Given the description of an element on the screen output the (x, y) to click on. 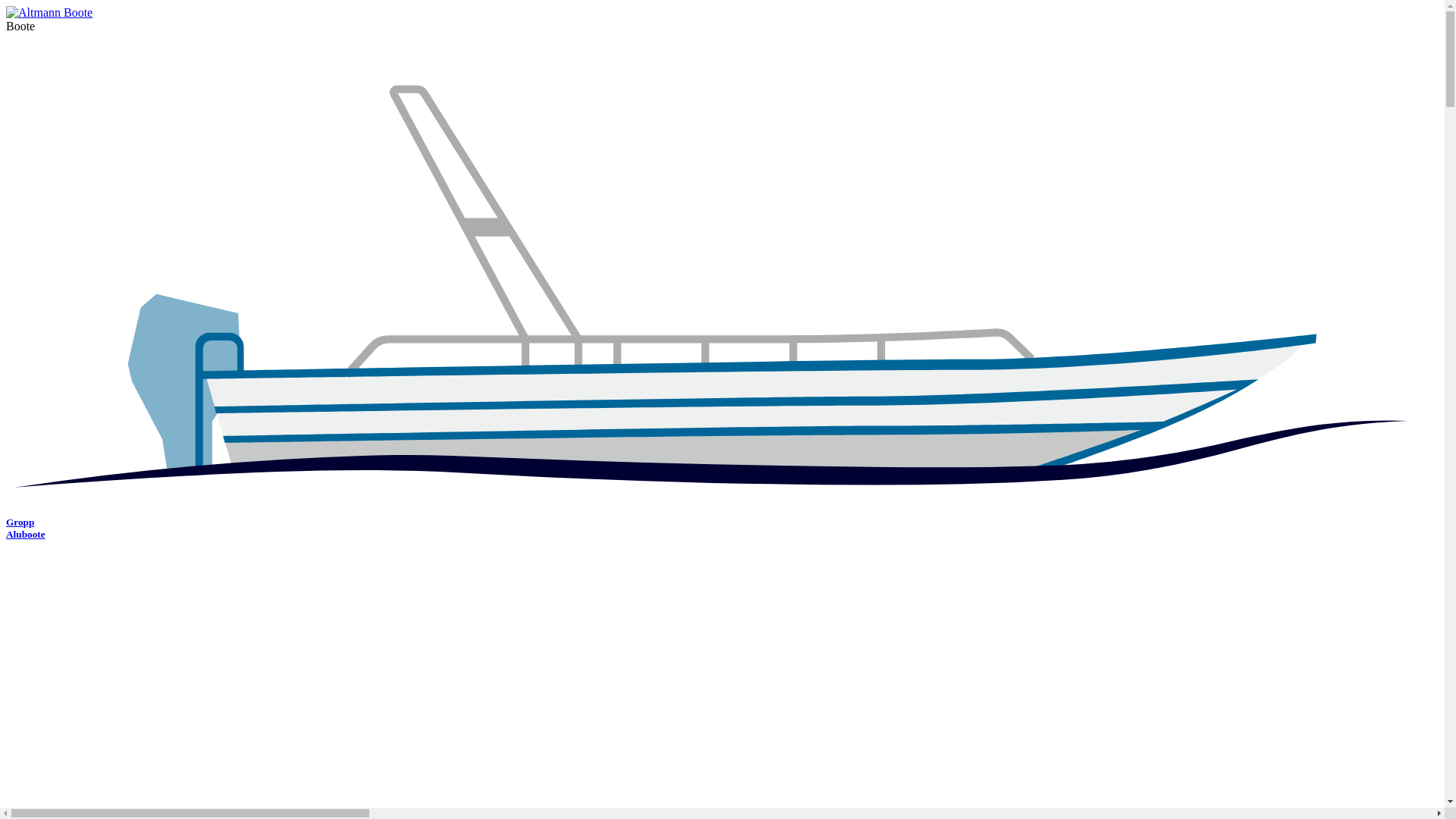
Altmann Boote Element type: hover (49, 12)
